Given the description of an element on the screen output the (x, y) to click on. 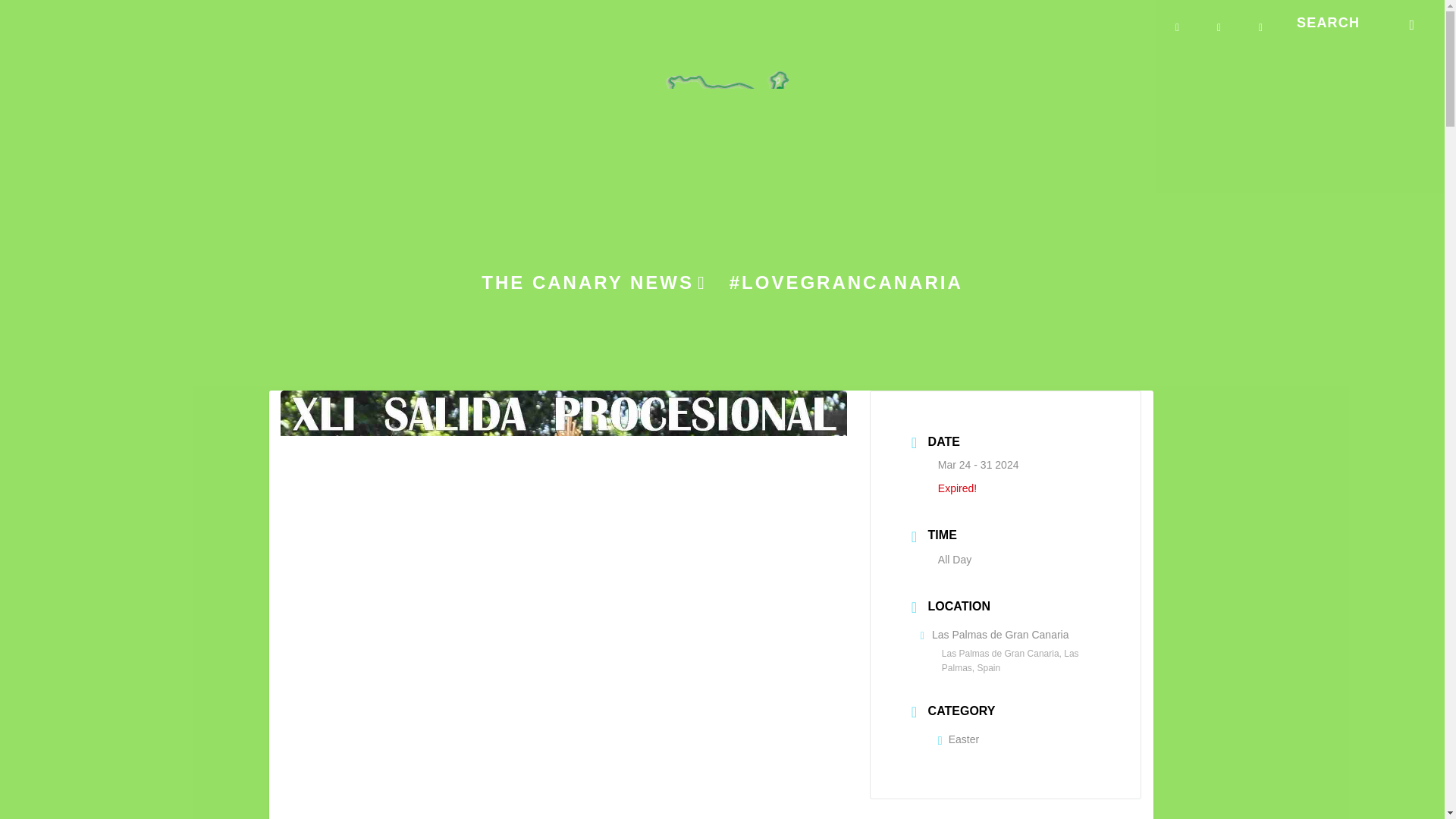
Search for: (1353, 22)
Easter (957, 739)
THE CANARY NEWS (593, 303)
